Given the description of an element on the screen output the (x, y) to click on. 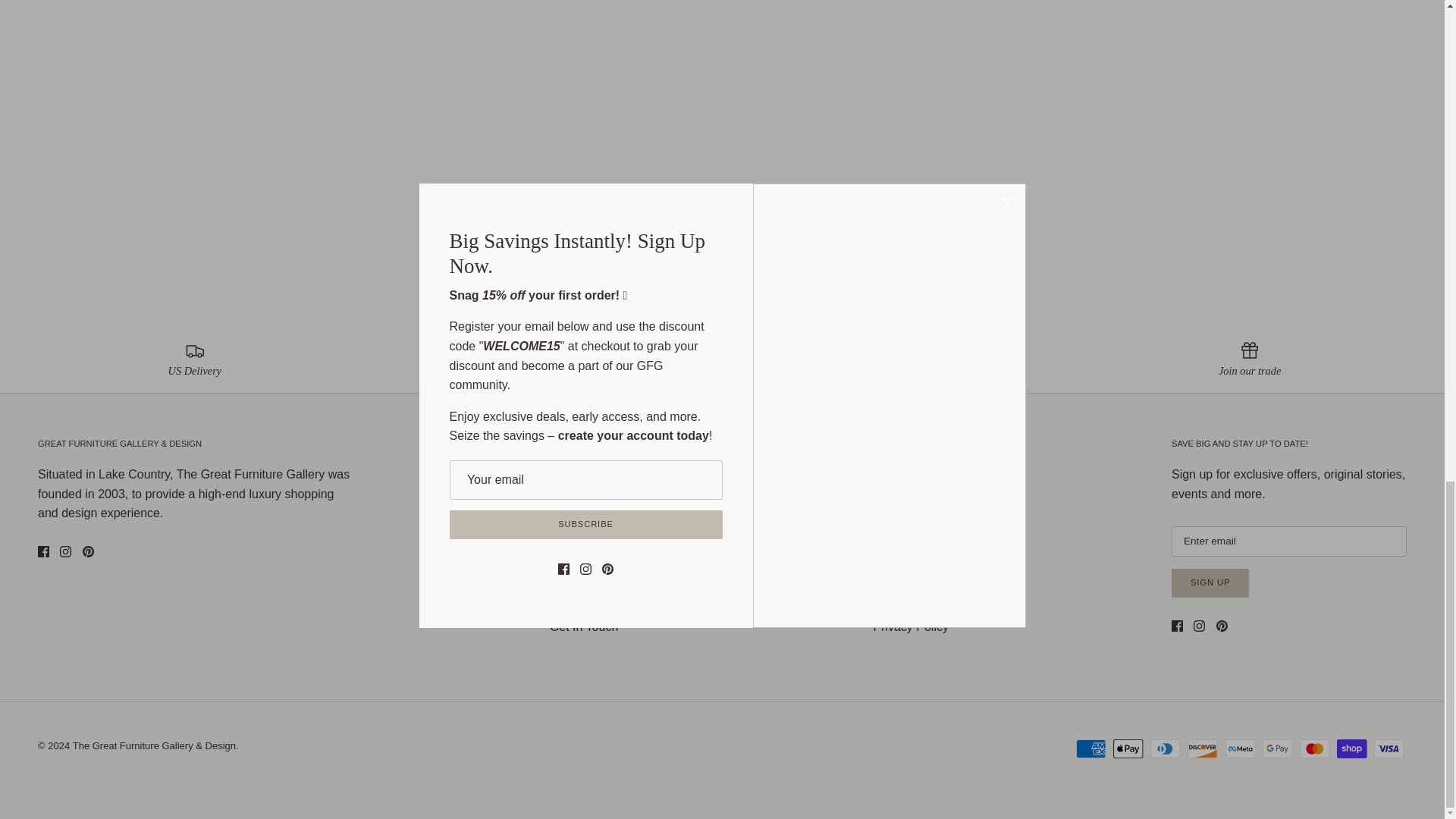
Facebook (43, 551)
Pinterest (1221, 625)
Instagram (65, 551)
Pinterest (88, 551)
Instagram (1199, 625)
American Express (1090, 748)
Facebook (1177, 625)
Apple Pay (1127, 748)
